Given the description of an element on the screen output the (x, y) to click on. 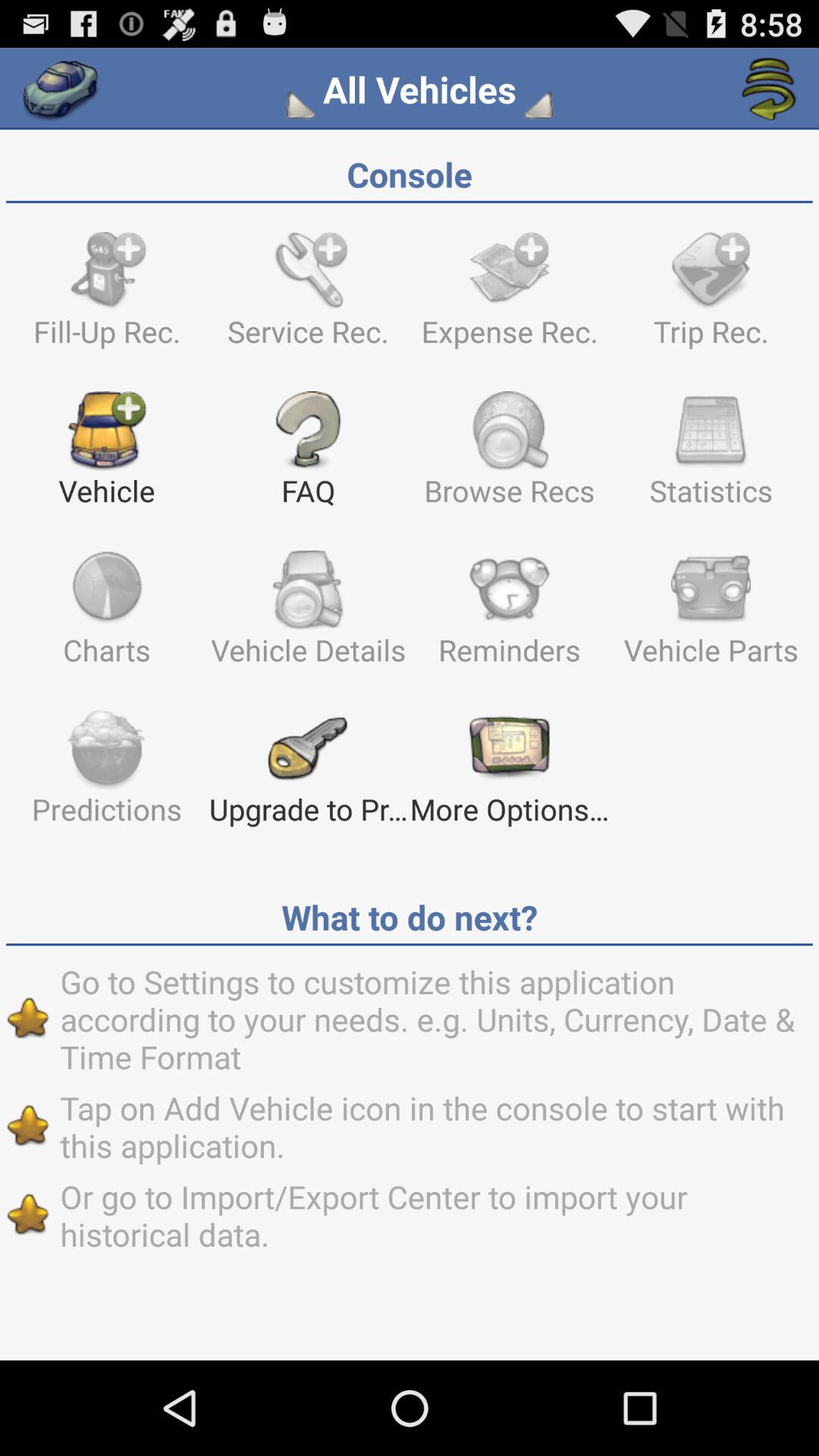
select app below the vehicle details item (509, 773)
